Given the description of an element on the screen output the (x, y) to click on. 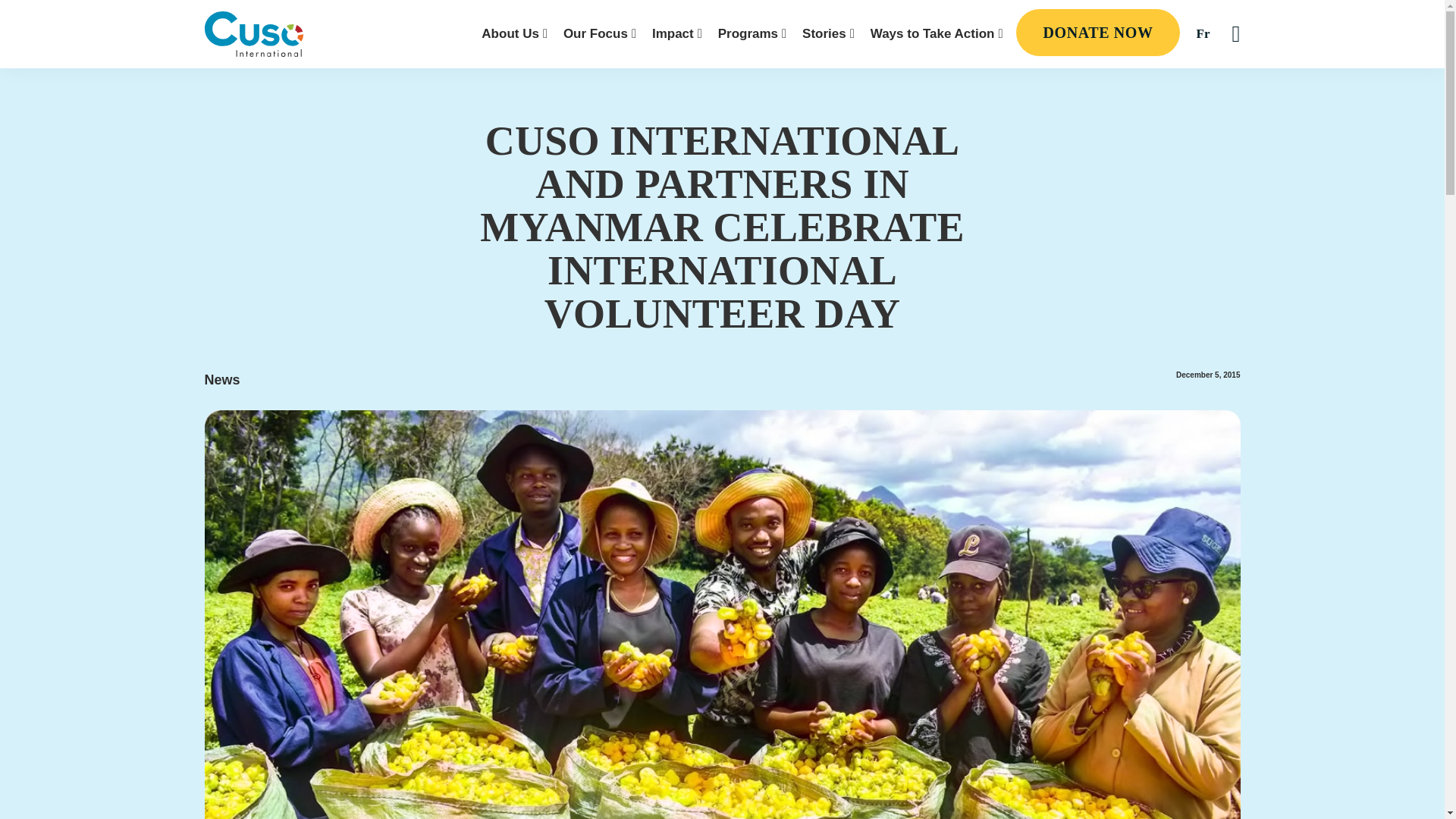
Our Focus (599, 33)
About Us (514, 33)
Stories (828, 33)
Programs (752, 33)
Ways to Take Action (936, 33)
Impact (676, 33)
